Given the description of an element on the screen output the (x, y) to click on. 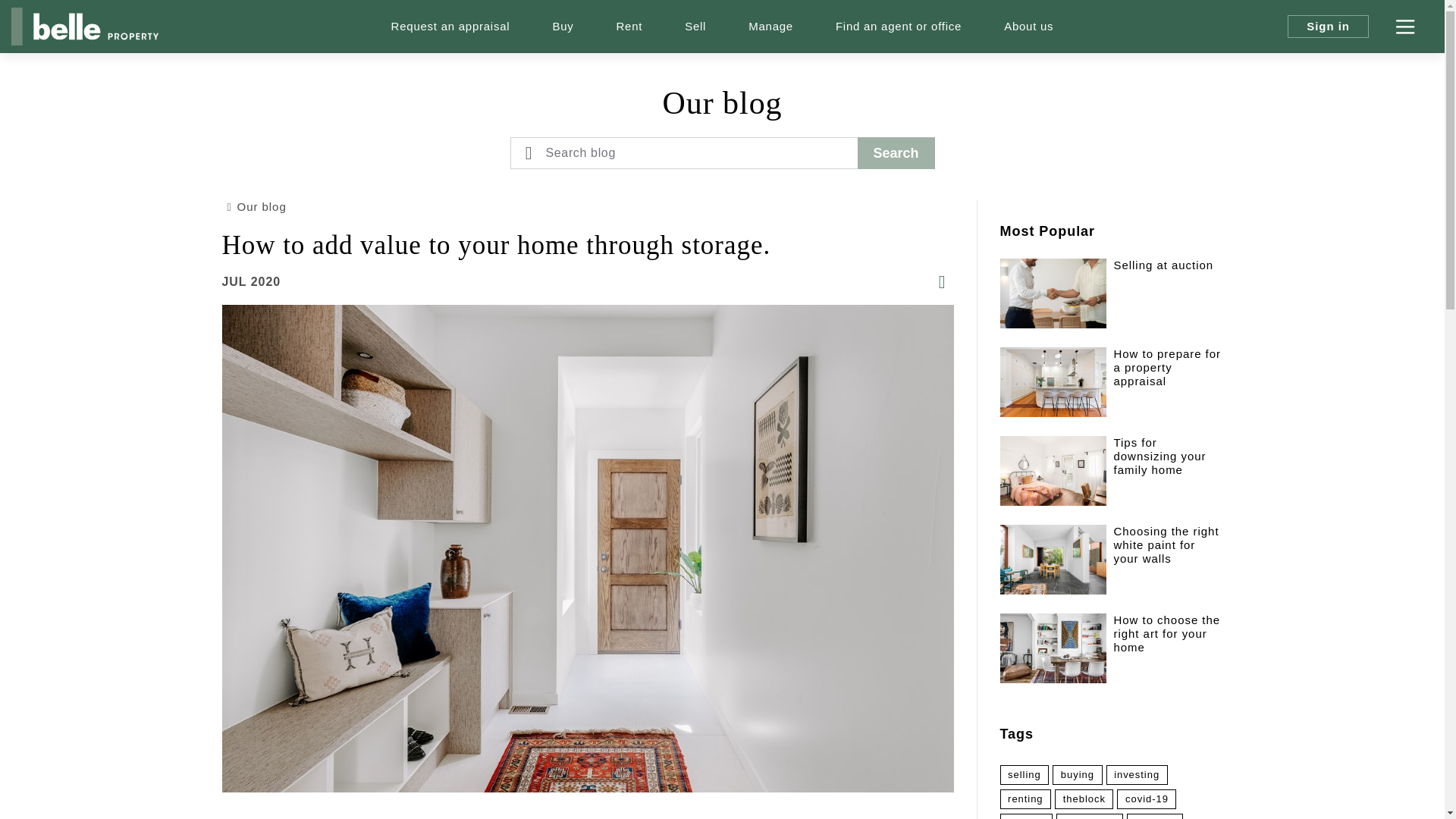
Sell (695, 26)
Find an agent or office (898, 26)
About us (1028, 26)
Request an appraisal (450, 26)
Buy (562, 26)
Manage (770, 26)
Rent (629, 26)
